Given the description of an element on the screen output the (x, y) to click on. 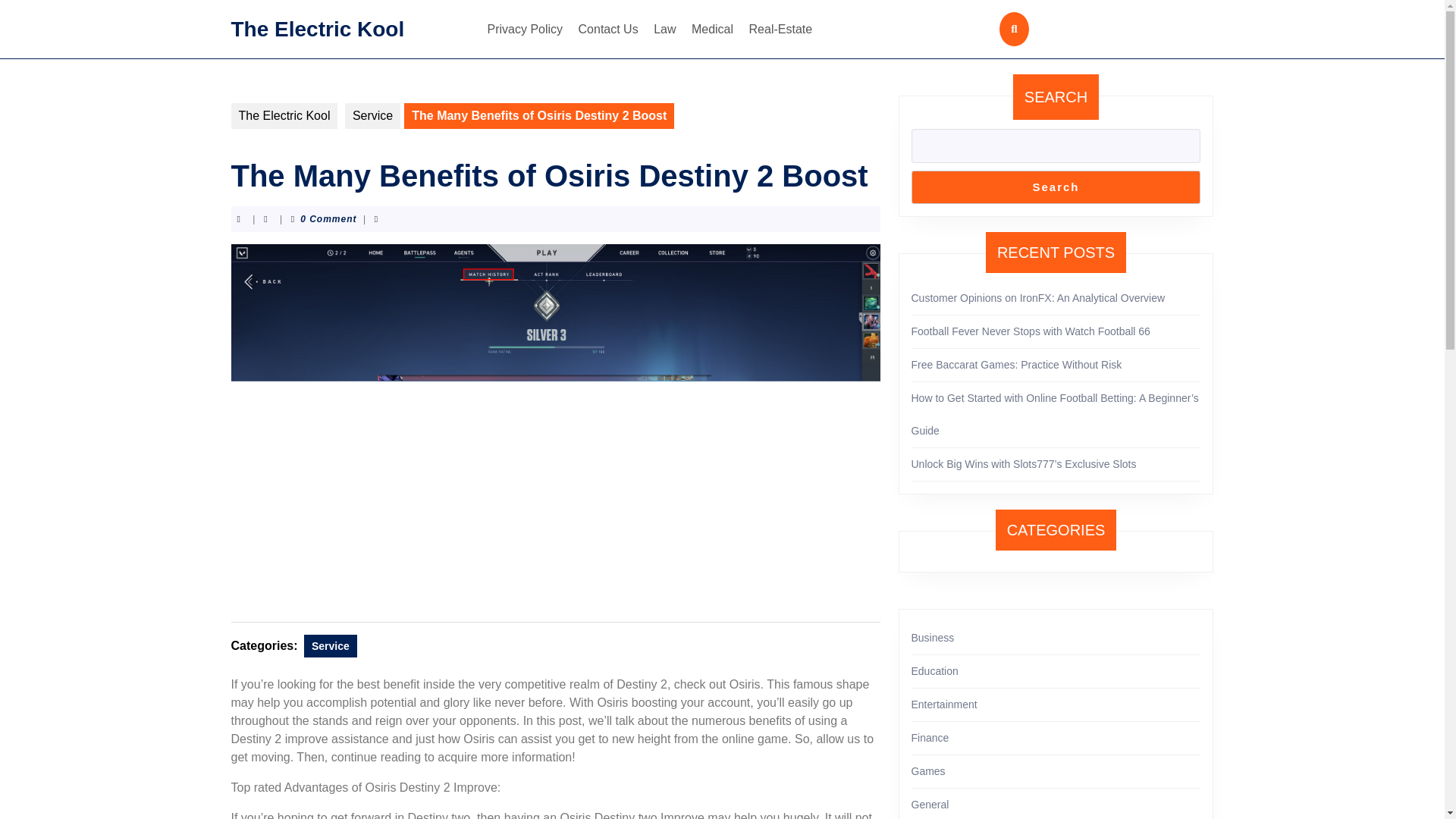
Real-Estate (780, 28)
Search (1056, 186)
Football Fever Never Stops with Watch Football 66 (1030, 331)
The Electric Kool (283, 115)
Law (664, 28)
Service (372, 115)
Medical (712, 28)
Privacy Policy (524, 28)
Customer Opinions on IronFX: An Analytical Overview (1038, 297)
Contact Us (608, 28)
